Given the description of an element on the screen output the (x, y) to click on. 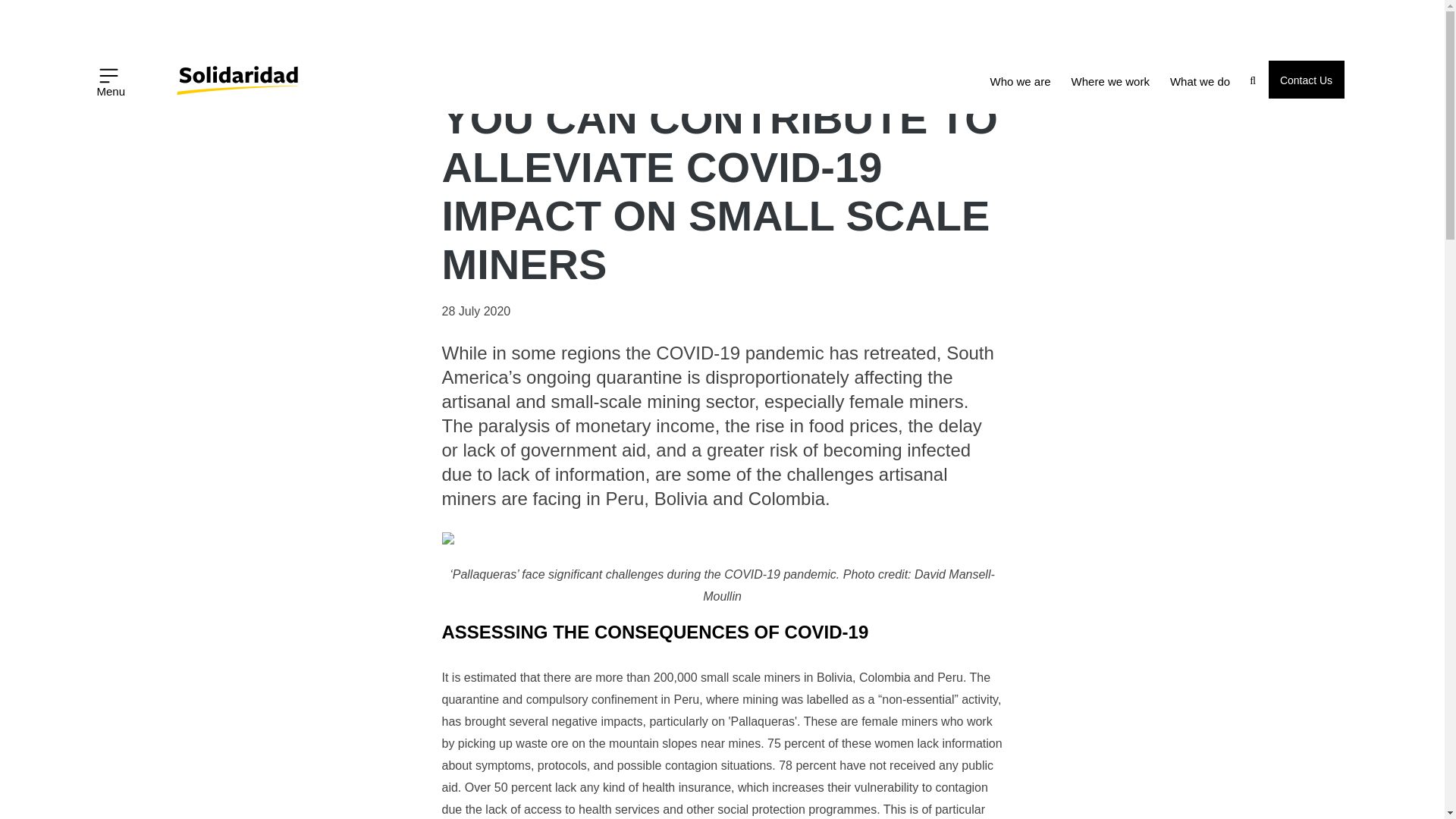
What we do (1199, 81)
Solidaridad Network (169, 69)
Where we work (1109, 81)
Who we are (1020, 81)
Contact Us (1305, 79)
